Given the description of an element on the screen output the (x, y) to click on. 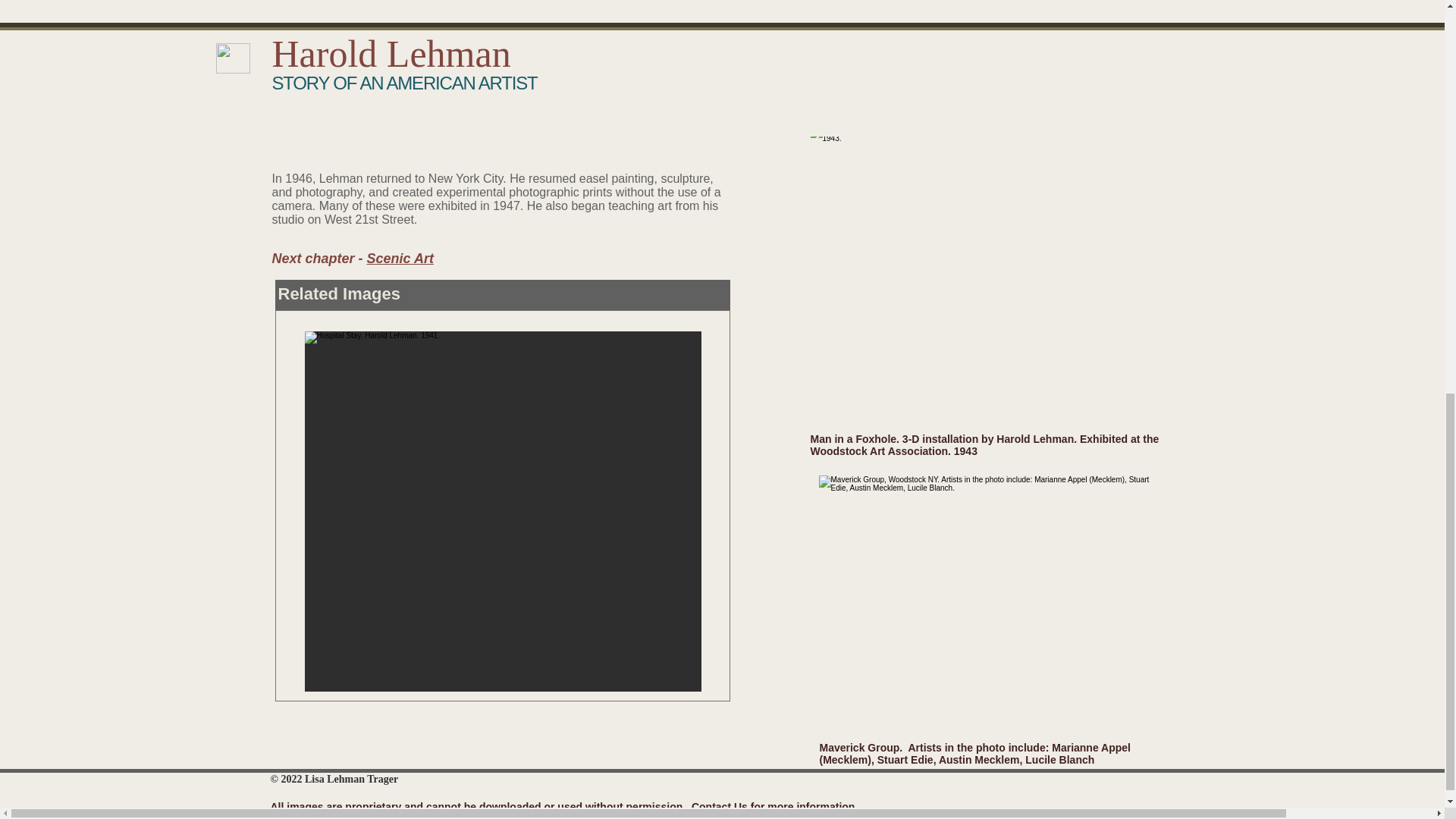
Scenic Art (399, 258)
Contact Us (721, 806)
